Given the description of an element on the screen output the (x, y) to click on. 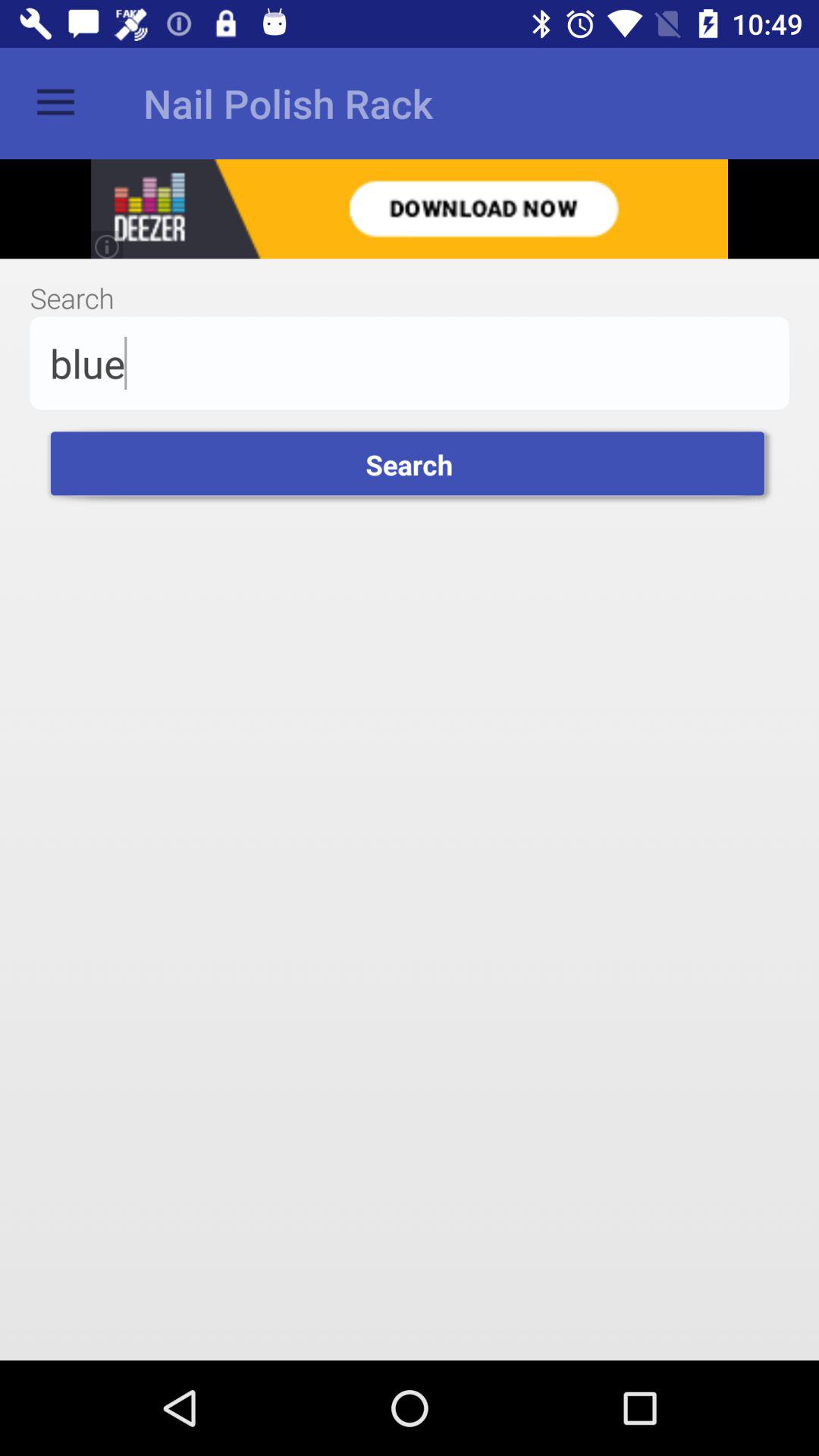
advertisement banner (409, 208)
